Given the description of an element on the screen output the (x, y) to click on. 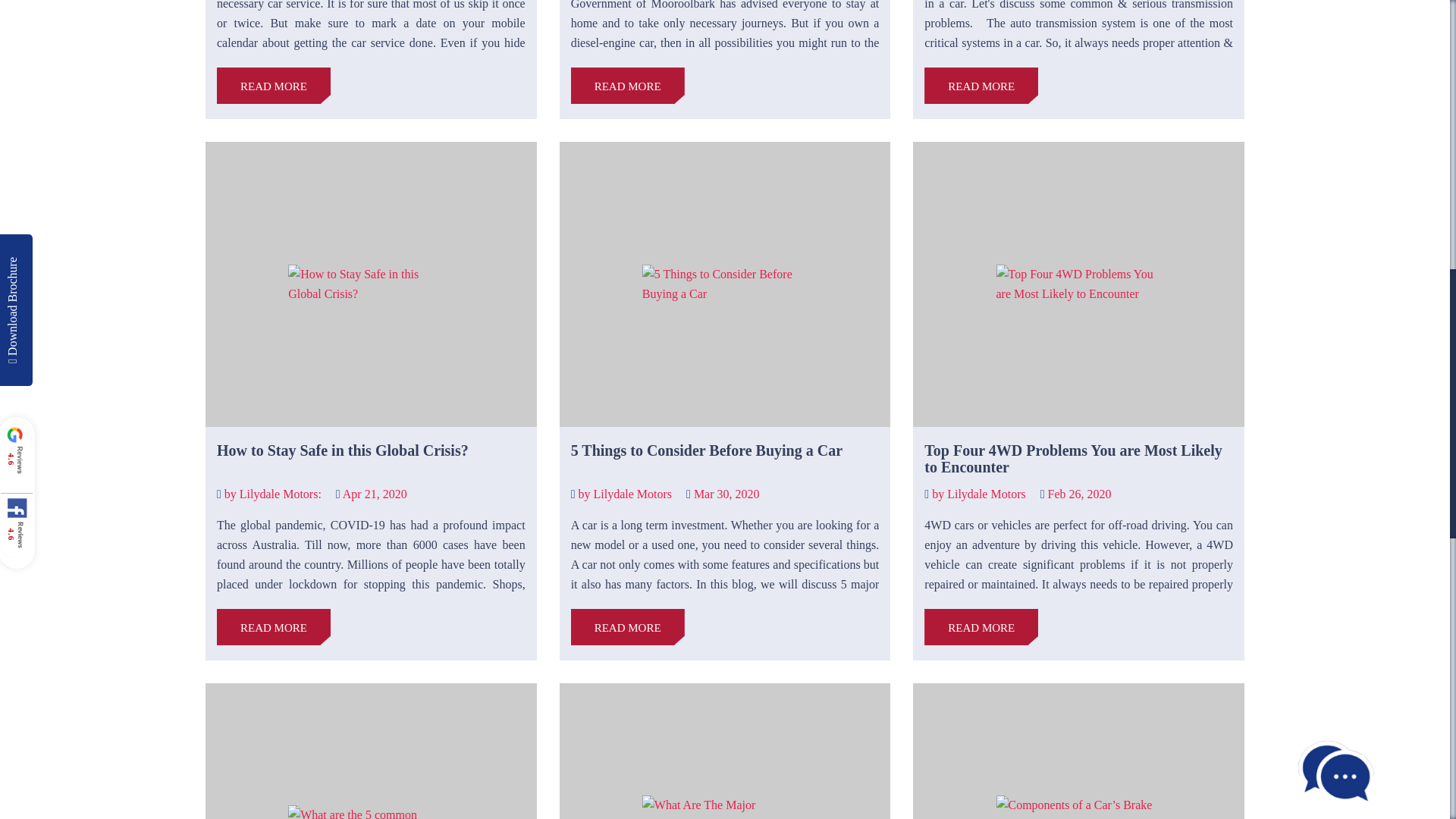
READ MORE (981, 85)
READ MORE (981, 627)
READ MORE (627, 627)
READ MORE (273, 85)
READ MORE (627, 85)
READ MORE (273, 627)
